Given the description of an element on the screen output the (x, y) to click on. 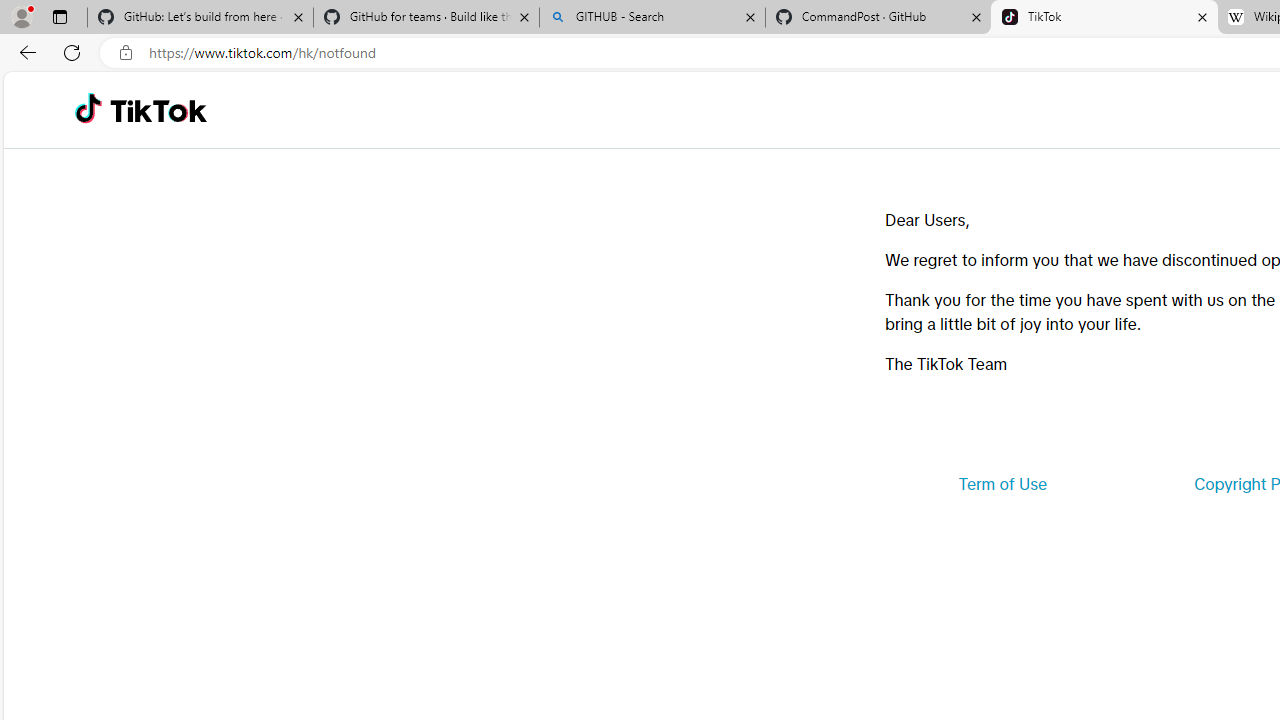
Term of Use (1002, 484)
GITHUB - Search (652, 17)
TikTok (1104, 17)
TikTok (158, 110)
